Given the description of an element on the screen output the (x, y) to click on. 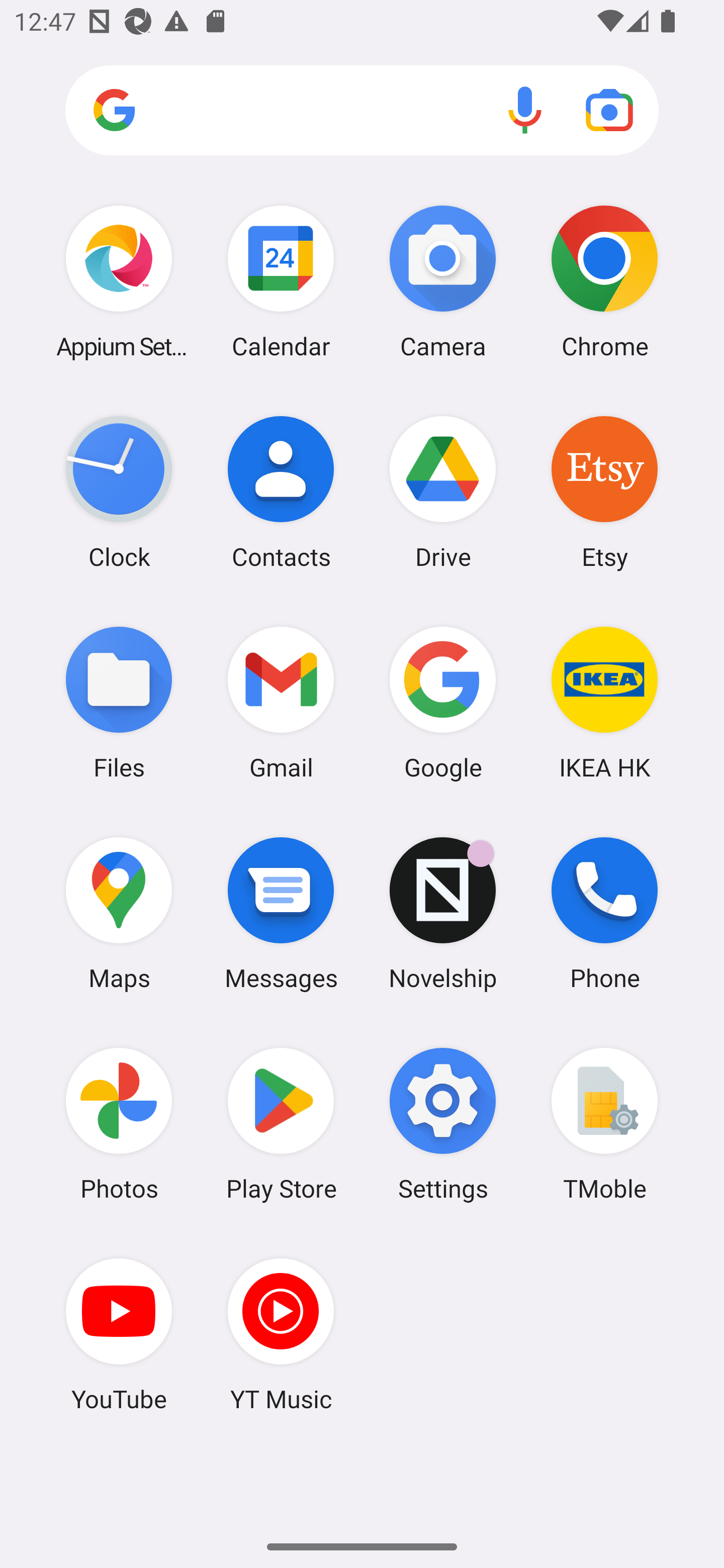
Search apps, web and more (361, 110)
Voice search (524, 109)
Google Lens (608, 109)
Appium Settings (118, 281)
Calendar (280, 281)
Camera (443, 281)
Chrome (604, 281)
Clock (118, 492)
Contacts (280, 492)
Drive (443, 492)
Etsy (604, 492)
Files (118, 702)
Gmail (280, 702)
Google (443, 702)
IKEA HK (604, 702)
Maps (118, 913)
Messages (280, 913)
Novelship Novelship has 7 notifications (443, 913)
Phone (604, 913)
Photos (118, 1124)
Play Store (280, 1124)
Settings (443, 1124)
TMoble (604, 1124)
YouTube (118, 1334)
YT Music (280, 1334)
